Given the description of an element on the screen output the (x, y) to click on. 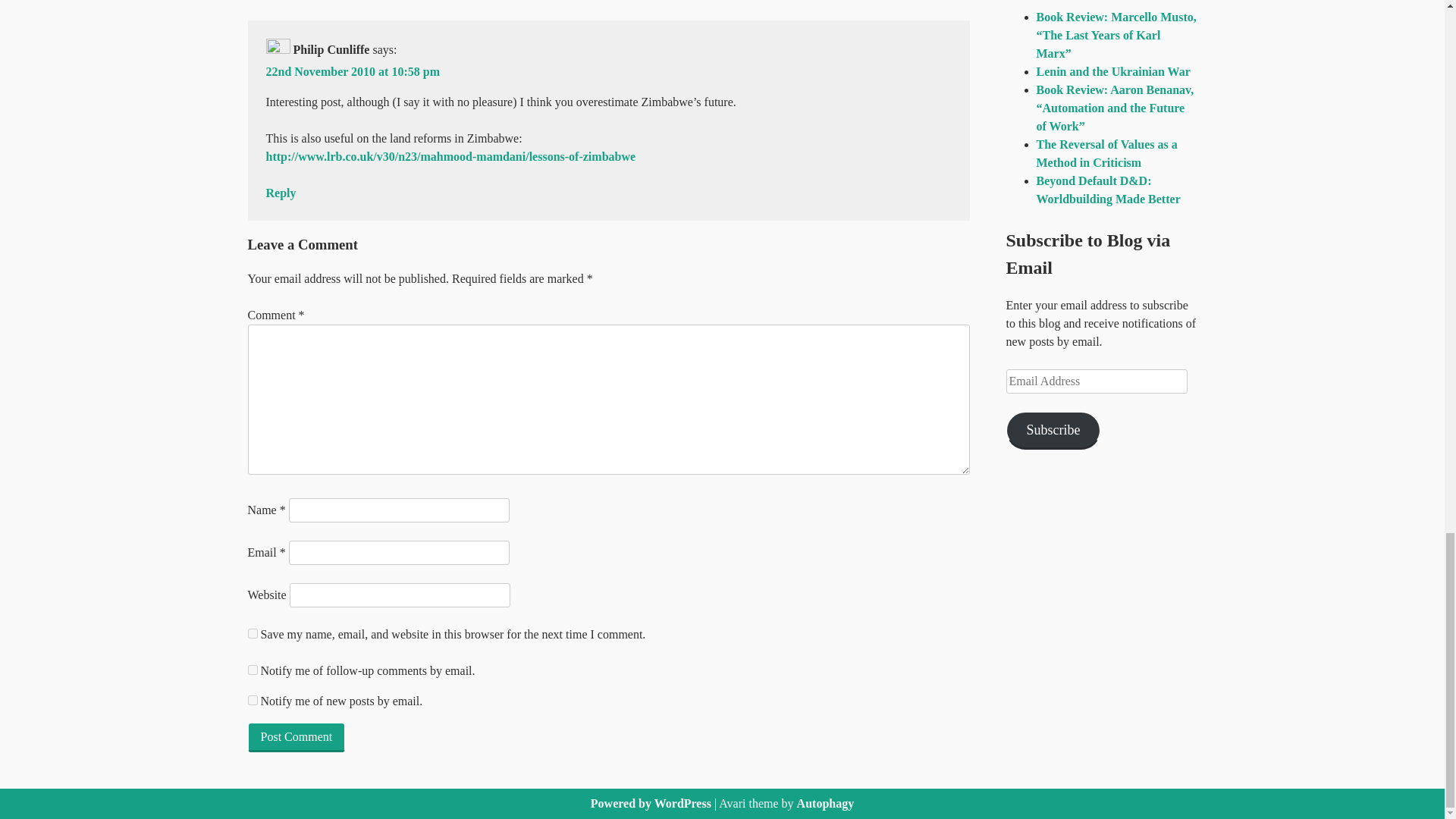
22nd November 2010 at 10:58 pm (351, 71)
yes (252, 633)
Post Comment (296, 737)
subscribe (252, 700)
subscribe (252, 669)
Reply (279, 192)
Post Comment (296, 737)
